Given the description of an element on the screen output the (x, y) to click on. 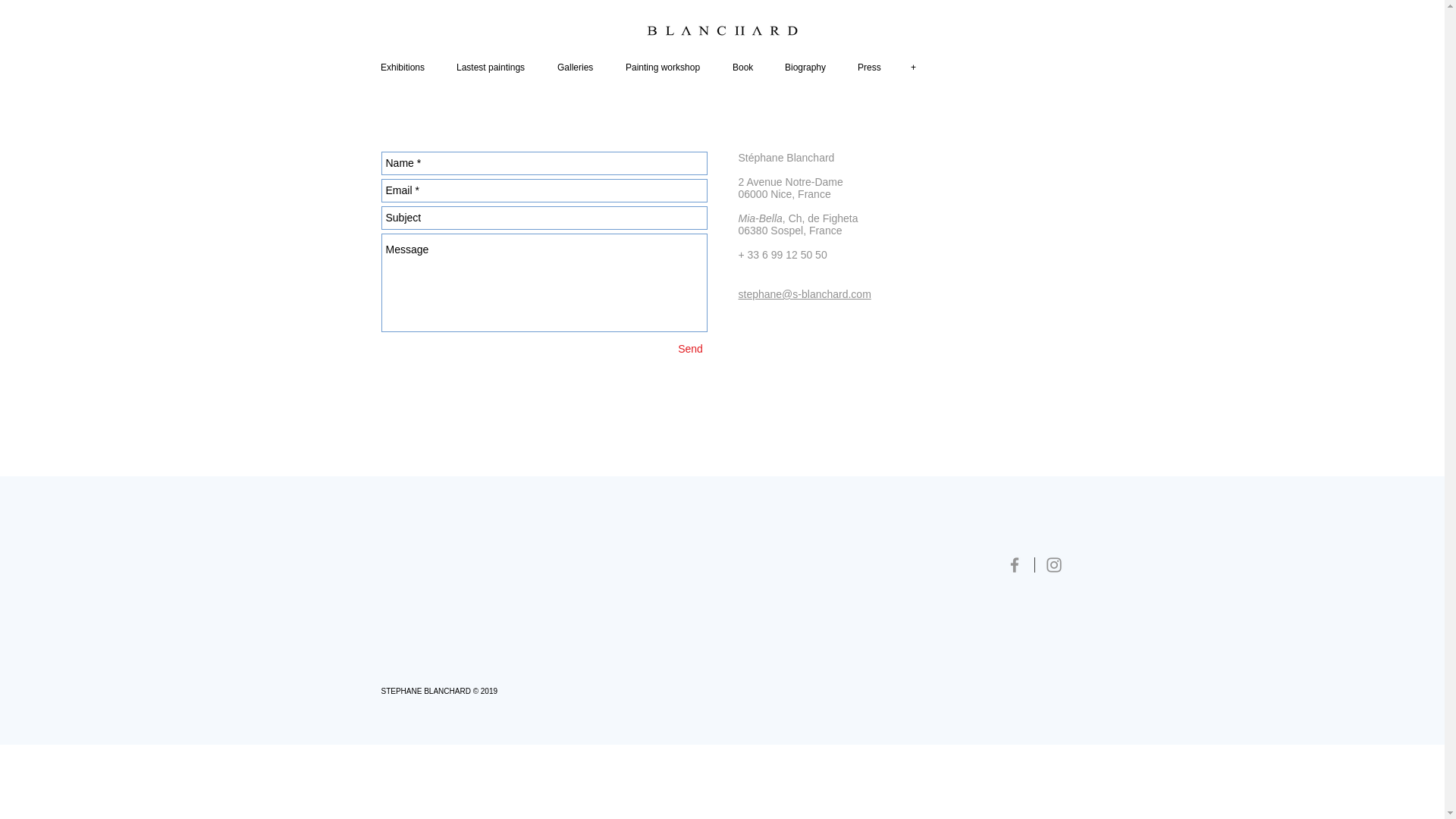
Book (745, 67)
Galleries (578, 67)
Press (871, 67)
Painting workshop (665, 67)
Exhibitions (406, 67)
Biography (807, 67)
Lastest paintings (494, 67)
Send (689, 349)
